Given the description of an element on the screen output the (x, y) to click on. 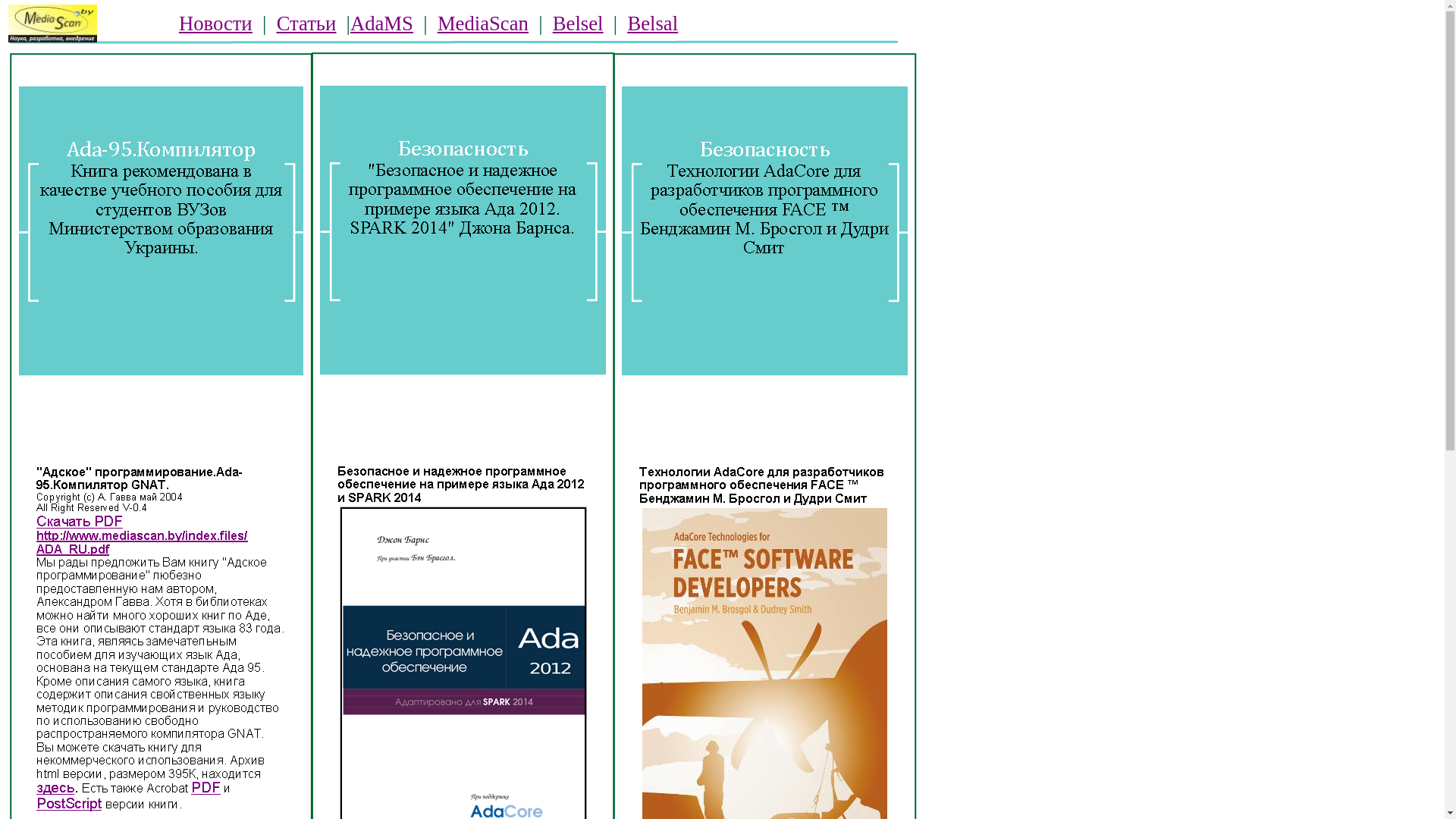
Belsel Element type: text (577, 24)
Belsal Element type: text (652, 24)
MediaScan Element type: text (482, 24)
AdaMS Element type: text (381, 24)
